Given the description of an element on the screen output the (x, y) to click on. 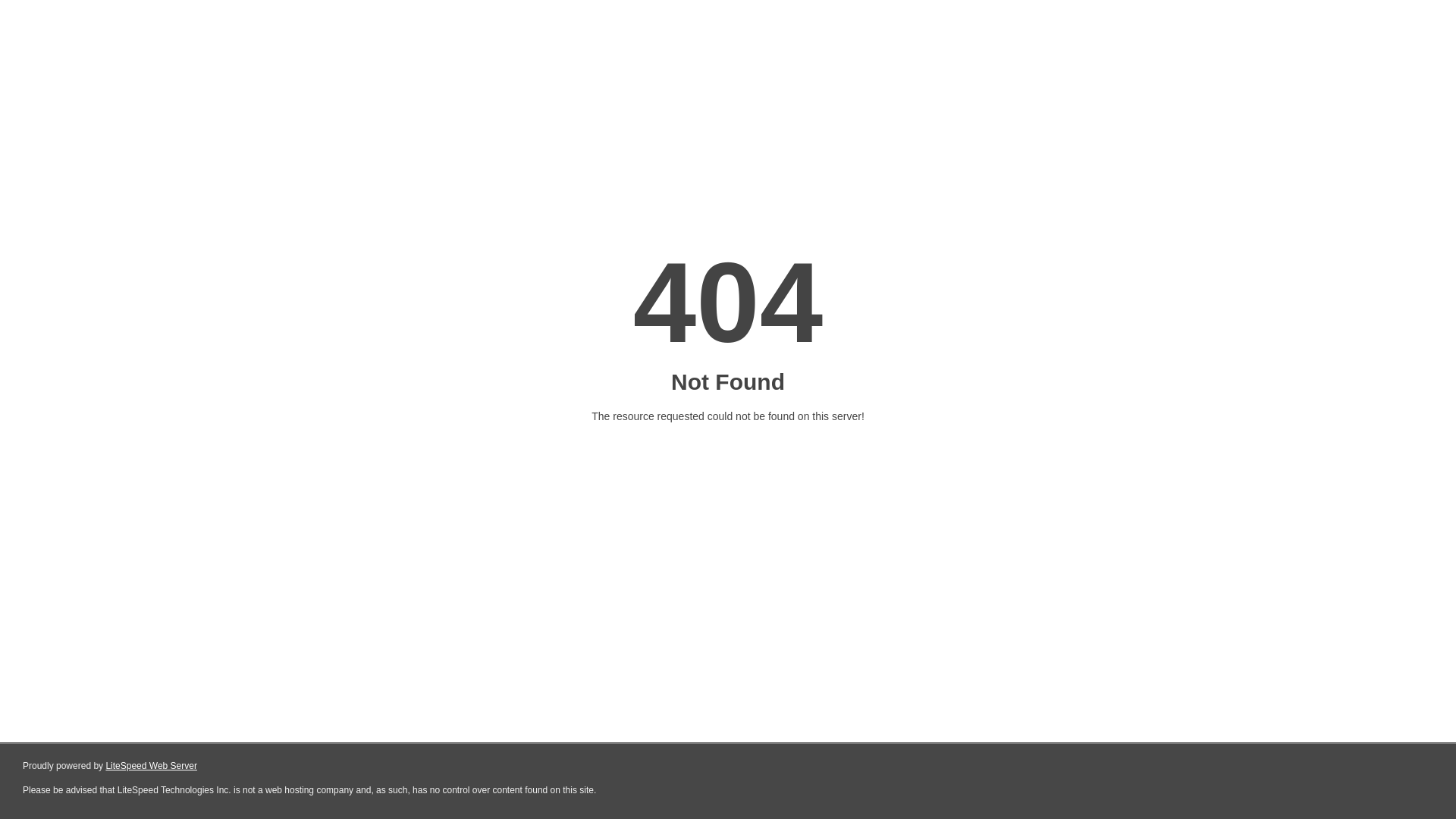
LiteSpeed Web Server Element type: text (151, 765)
